Given the description of an element on the screen output the (x, y) to click on. 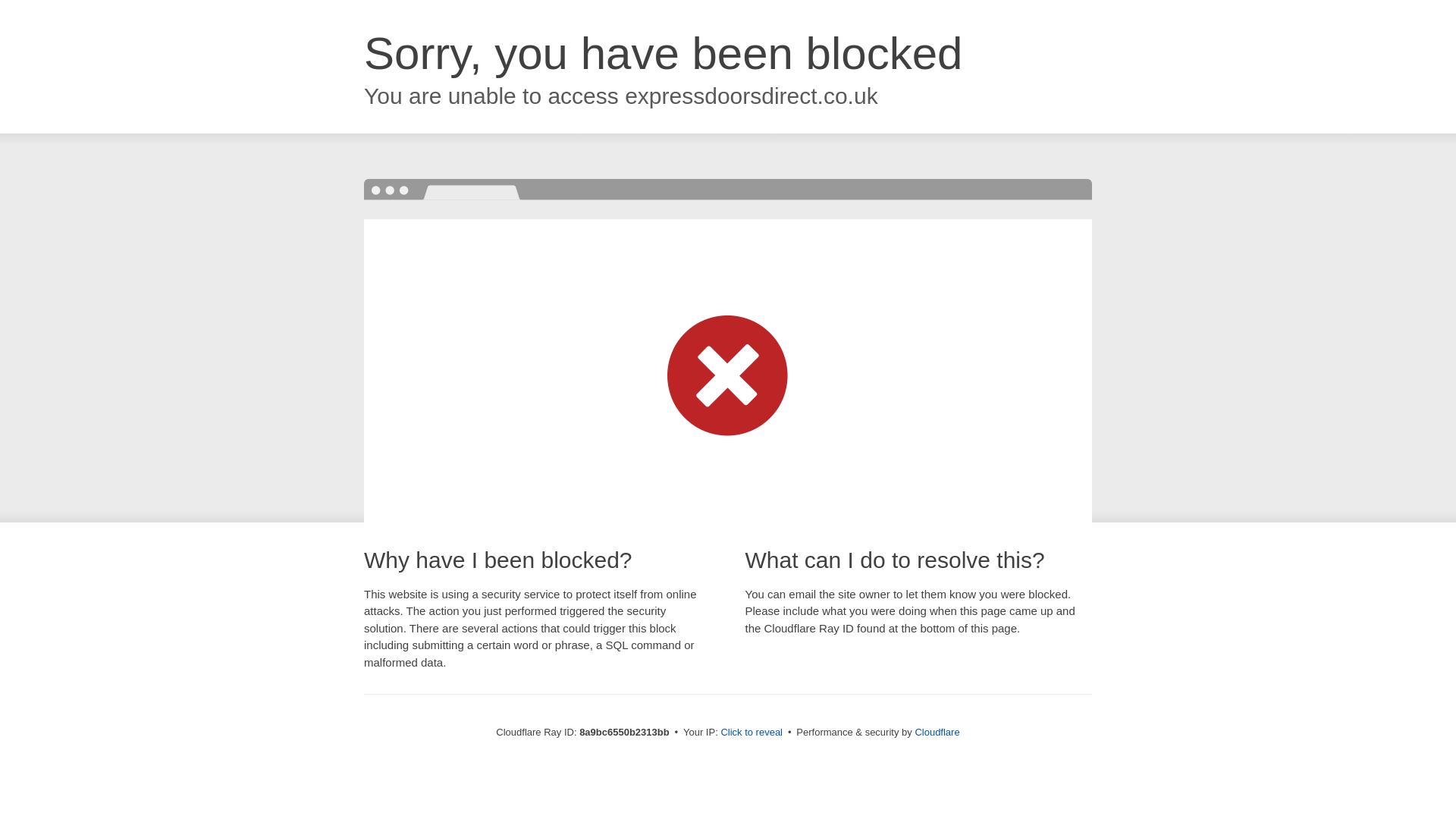
Click to reveal (751, 732)
Cloudflare (936, 731)
